Given the description of an element on the screen output the (x, y) to click on. 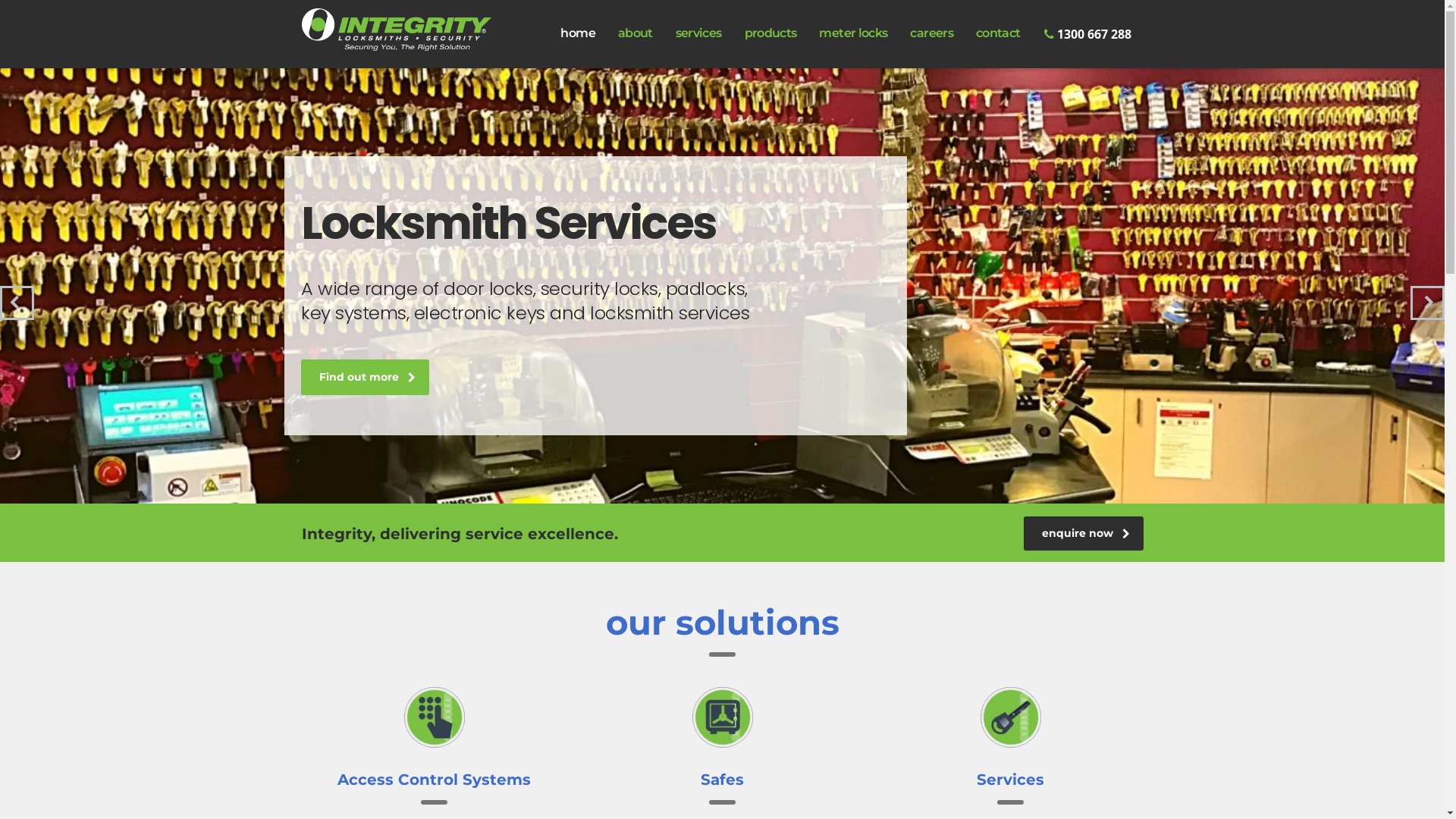
icons-safes-circle_small Element type: hover (721, 717)
Safes Element type: text (721, 779)
Access Control Systems Element type: text (433, 779)
1300 667 288 Element type: text (1086, 33)
enquire now Element type: text (1083, 533)
icons-alarms-circle_small Element type: hover (433, 717)
products Element type: text (770, 33)
meter locks Element type: text (852, 33)
Find out more Element type: text (365, 378)
home Element type: text (577, 33)
about Element type: text (635, 33)
Services Element type: text (1010, 779)
icons-key-circle_small Element type: hover (1009, 717)
contact Element type: text (998, 33)
services Element type: text (698, 33)
careers Element type: text (931, 33)
